Given the description of an element on the screen output the (x, y) to click on. 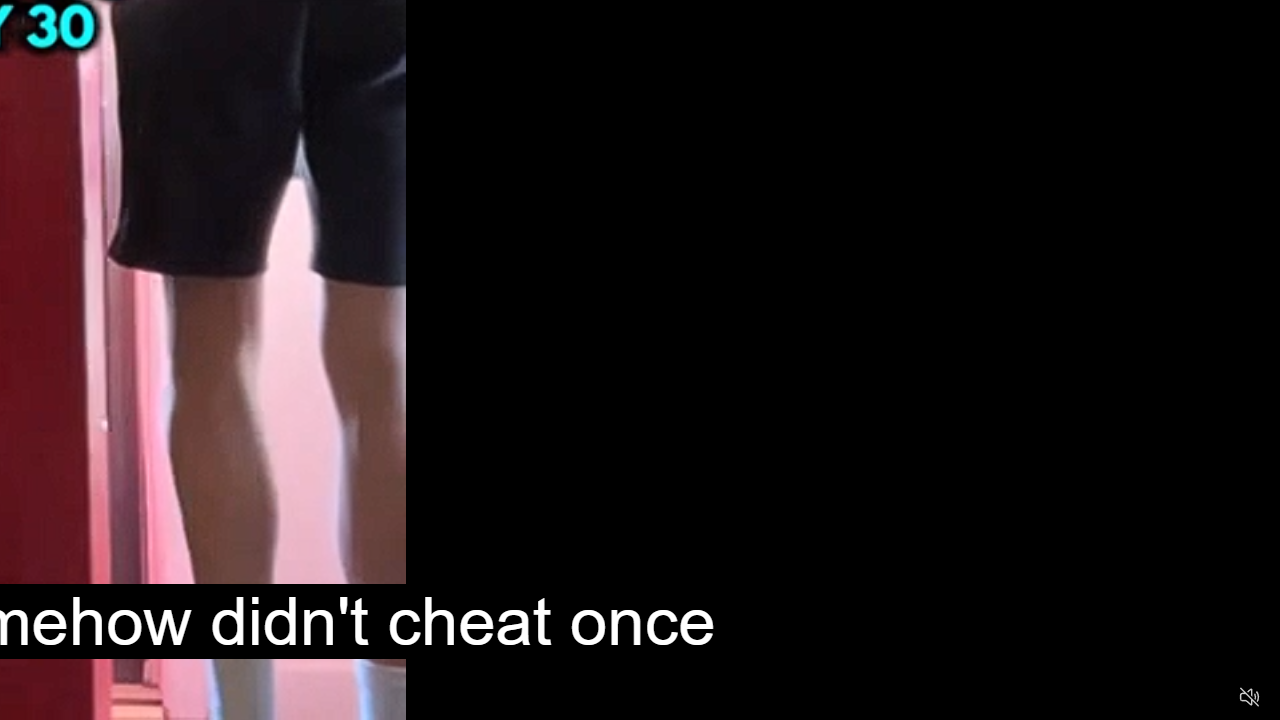
Captions (1171, 697)
Unmute (1249, 696)
Quality Settings (1132, 697)
Non-Fullscreen (1211, 697)
